Given the description of an element on the screen output the (x, y) to click on. 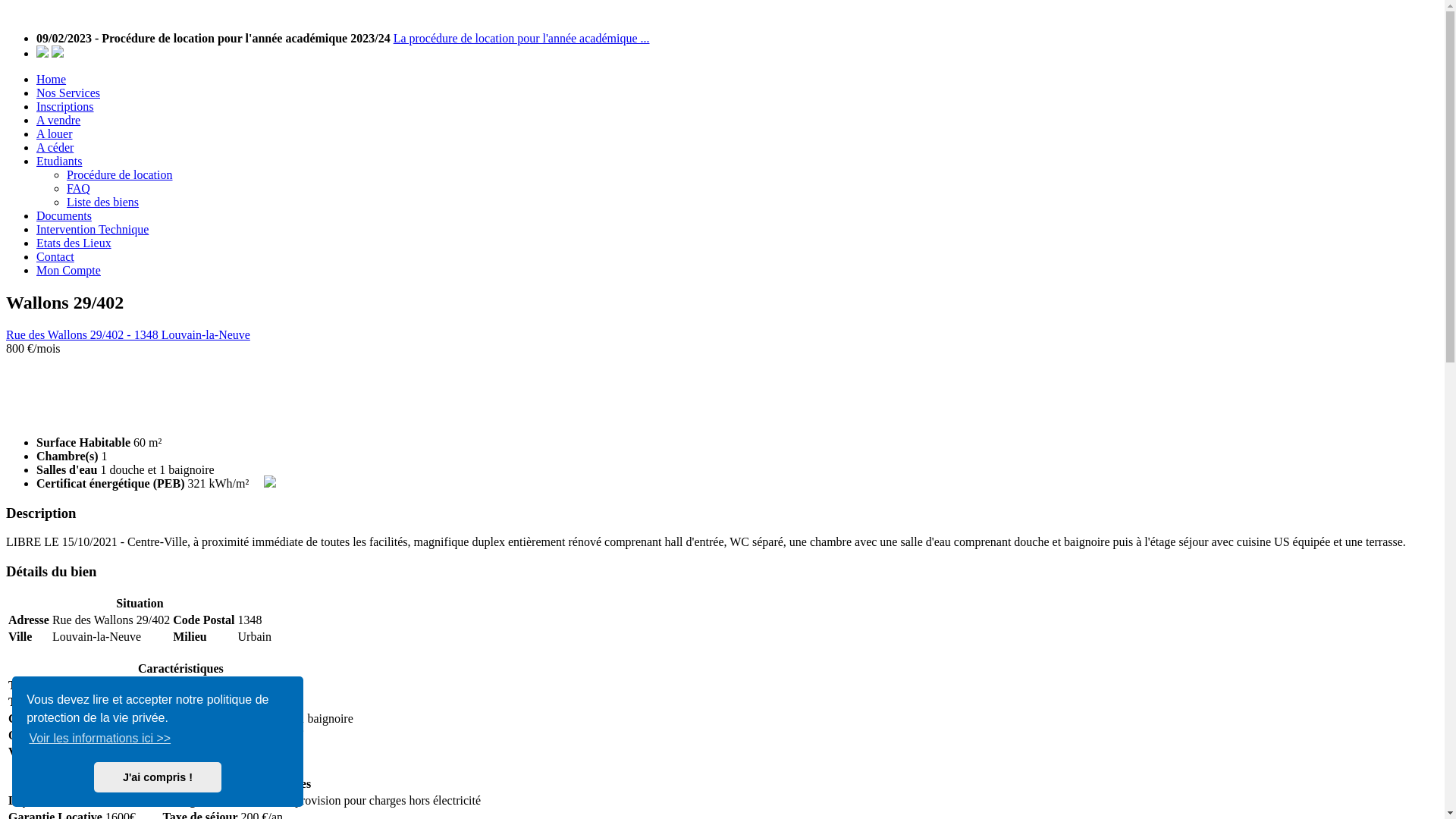
Home Element type: text (50, 78)
Nos Services Element type: text (68, 92)
Etats des Lieux Element type: text (73, 242)
Intervention Technique Element type: text (92, 228)
Voir les informations ici >> Element type: text (99, 738)
Inscriptions Element type: text (65, 106)
Contact Element type: text (55, 256)
Mon Compte Element type: text (68, 269)
Documents Element type: text (63, 215)
FAQ Element type: text (78, 188)
Rue des Wallons 29/402 - 1348 Louvain-la-Neuve Element type: text (128, 334)
Etudiants Element type: text (58, 160)
J'ai compris ! Element type: text (157, 777)
Liste des biens Element type: text (102, 201)
A louer Element type: text (54, 133)
A vendre Element type: text (58, 119)
